Given the description of an element on the screen output the (x, y) to click on. 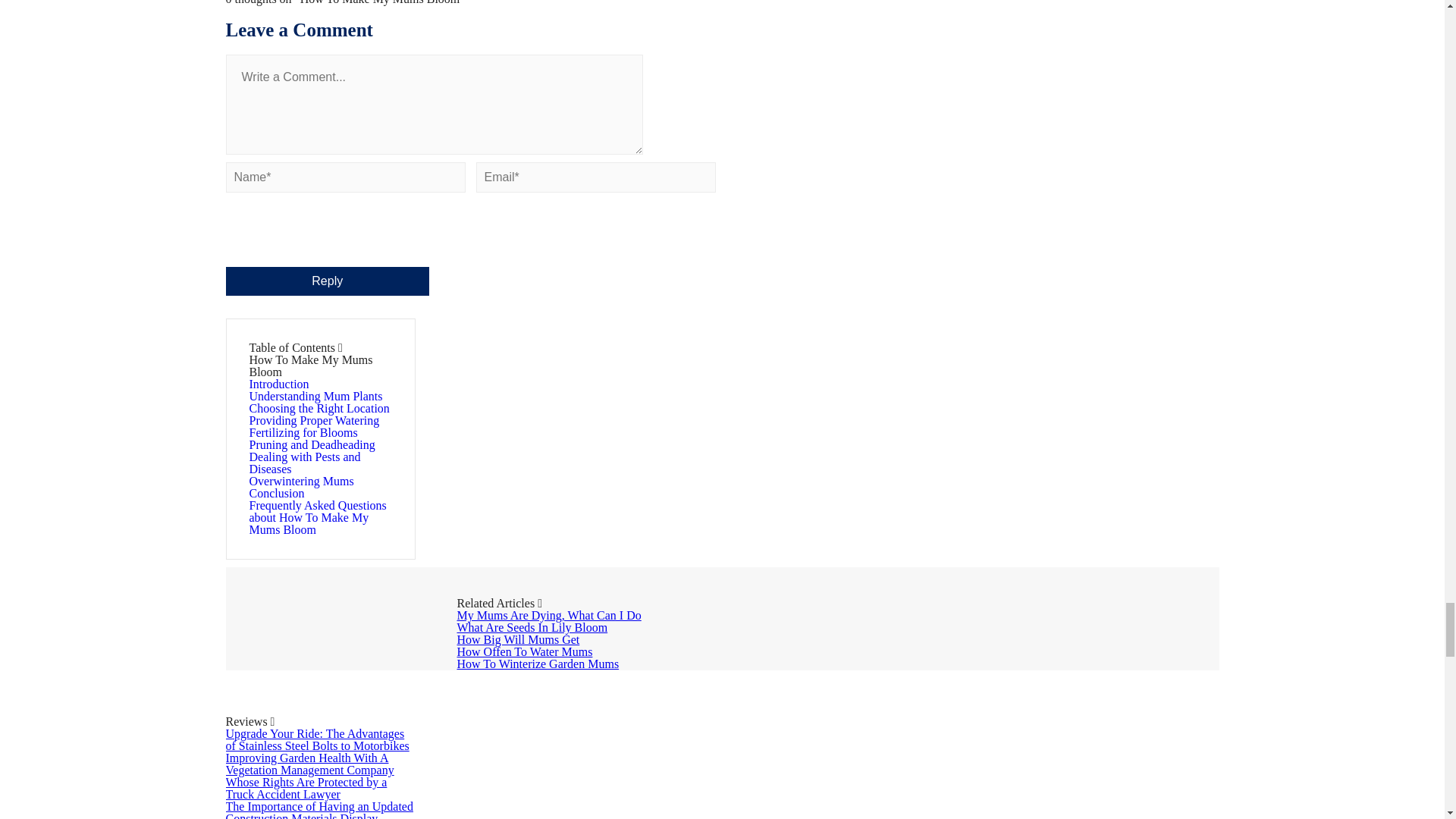
Reply (327, 280)
